Given the description of an element on the screen output the (x, y) to click on. 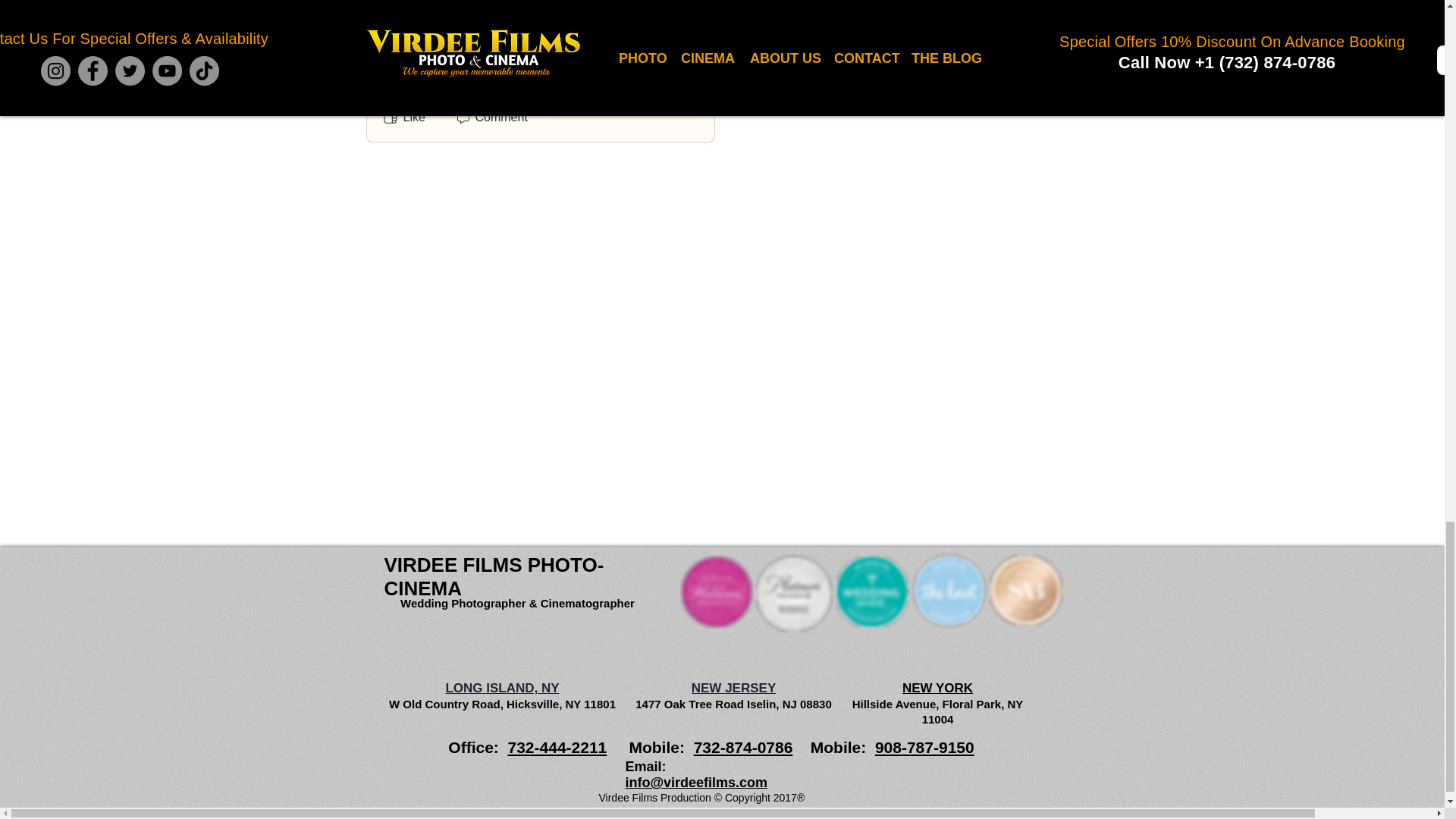
Maharani Weddings Indian Photographer Virdee Films (715, 591)
weddingwire-virdeephotographer (871, 591)
Maharani Weddings Indian Photographer Virdee Films (793, 593)
Like (402, 117)
Comment (489, 117)
3 (402, 76)
0 (440, 76)
